Given the description of an element on the screen output the (x, y) to click on. 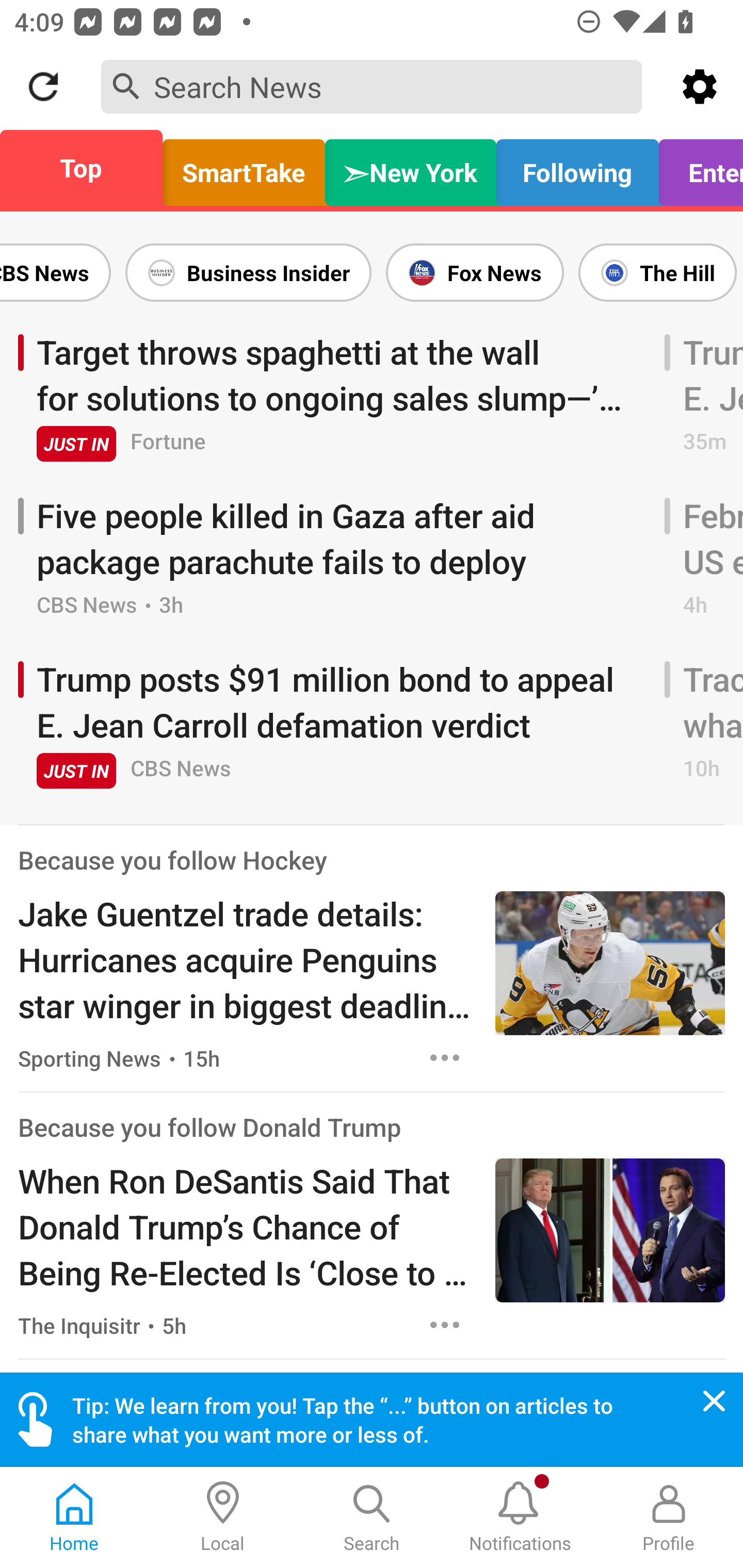
Search News (371, 85)
Top (86, 167)
SmartTake (243, 167)
➣New York (410, 167)
Following (577, 167)
Entertain (695, 167)
Business Insider (248, 272)
Fox News (474, 272)
The Hill (657, 272)
JUST IN (75, 443)
JUST IN (75, 770)
Because you follow Hockey (171, 859)
Options (444, 1057)
Because you follow Donald Trump (209, 1127)
Options (444, 1324)
Close (714, 1401)
Local (222, 1517)
Search (371, 1517)
Notifications, New notification Notifications (519, 1517)
Profile (668, 1517)
